Given the description of an element on the screen output the (x, y) to click on. 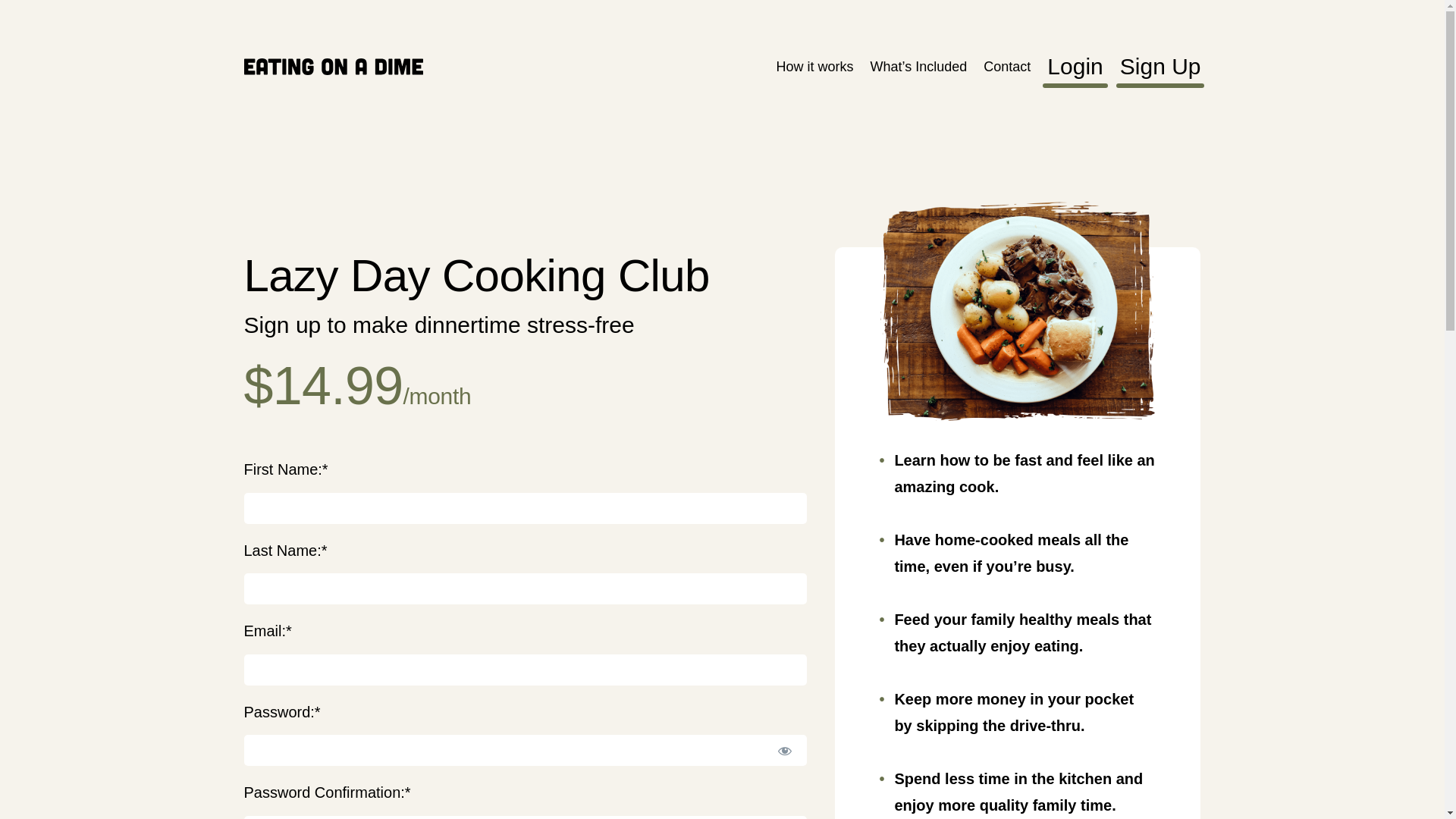
How it works (814, 66)
Sign Up (1160, 66)
Login (1074, 66)
